Given the description of an element on the screen output the (x, y) to click on. 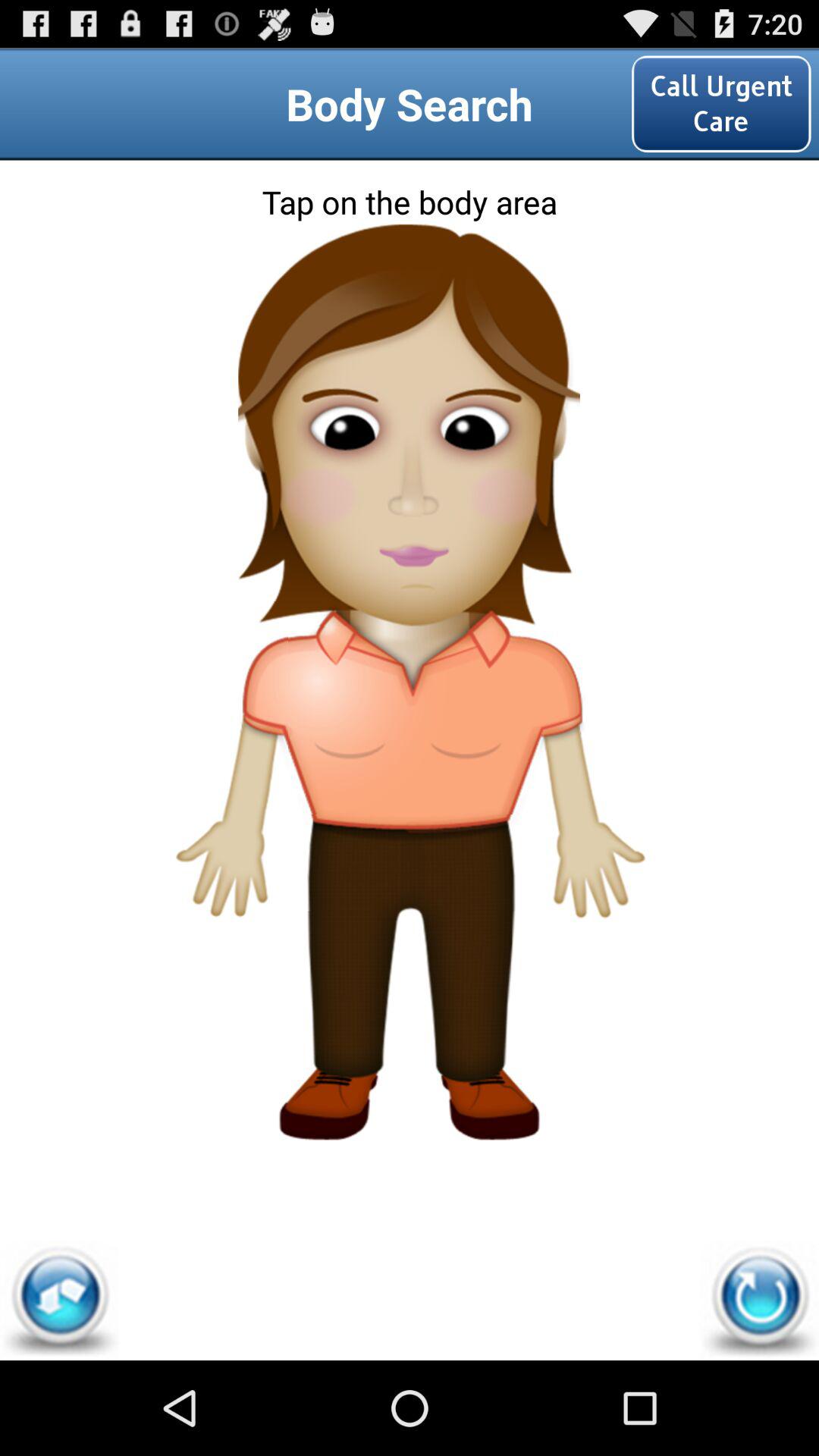
turn off the call urgent care icon (721, 103)
